Given the description of an element on the screen output the (x, y) to click on. 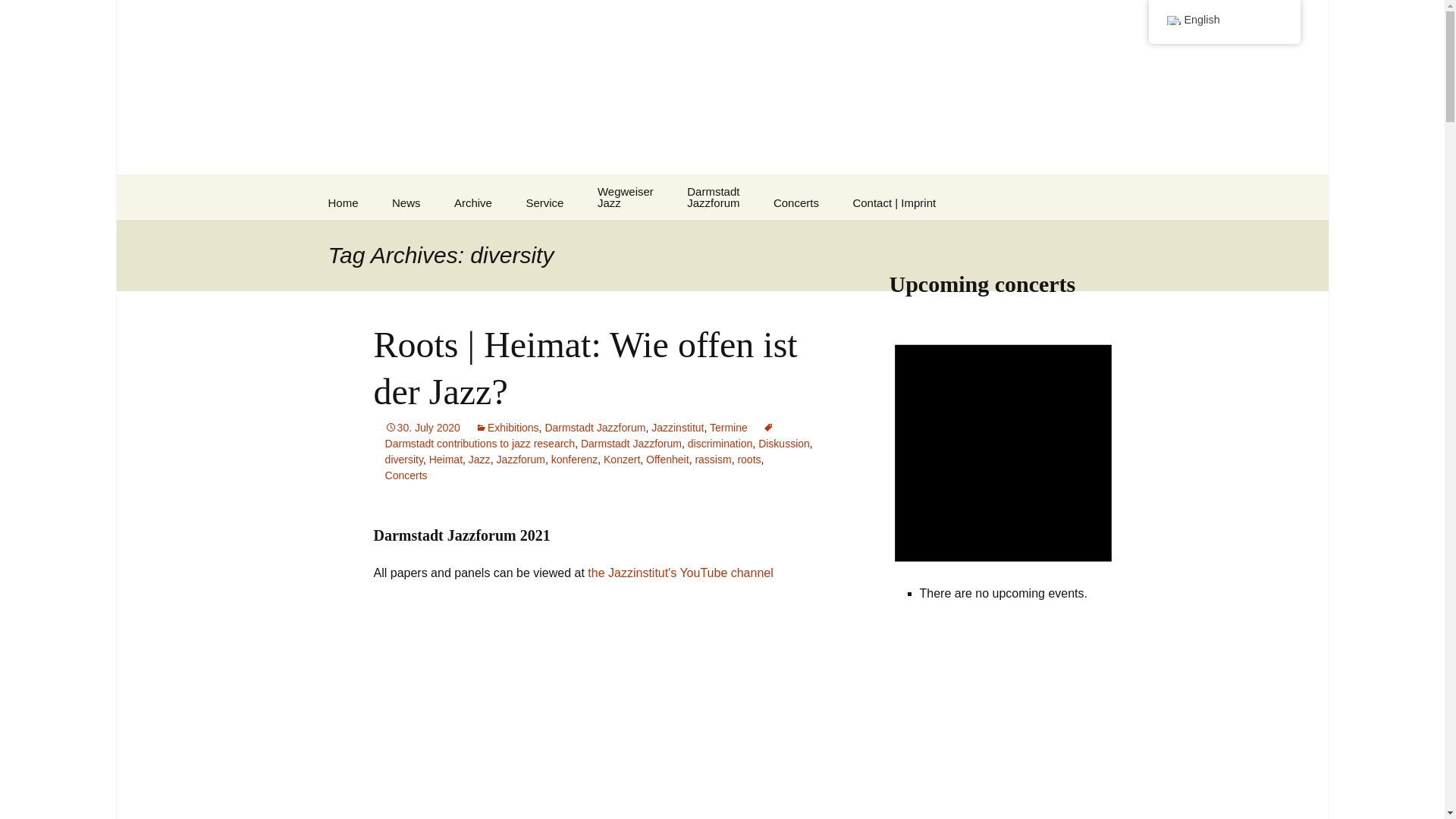
Archive (472, 202)
Service (544, 202)
YouTube video player (601, 709)
Concerts (796, 202)
Home (342, 202)
News (406, 202)
English (1172, 20)
Skip to content (625, 197)
